Given the description of an element on the screen output the (x, y) to click on. 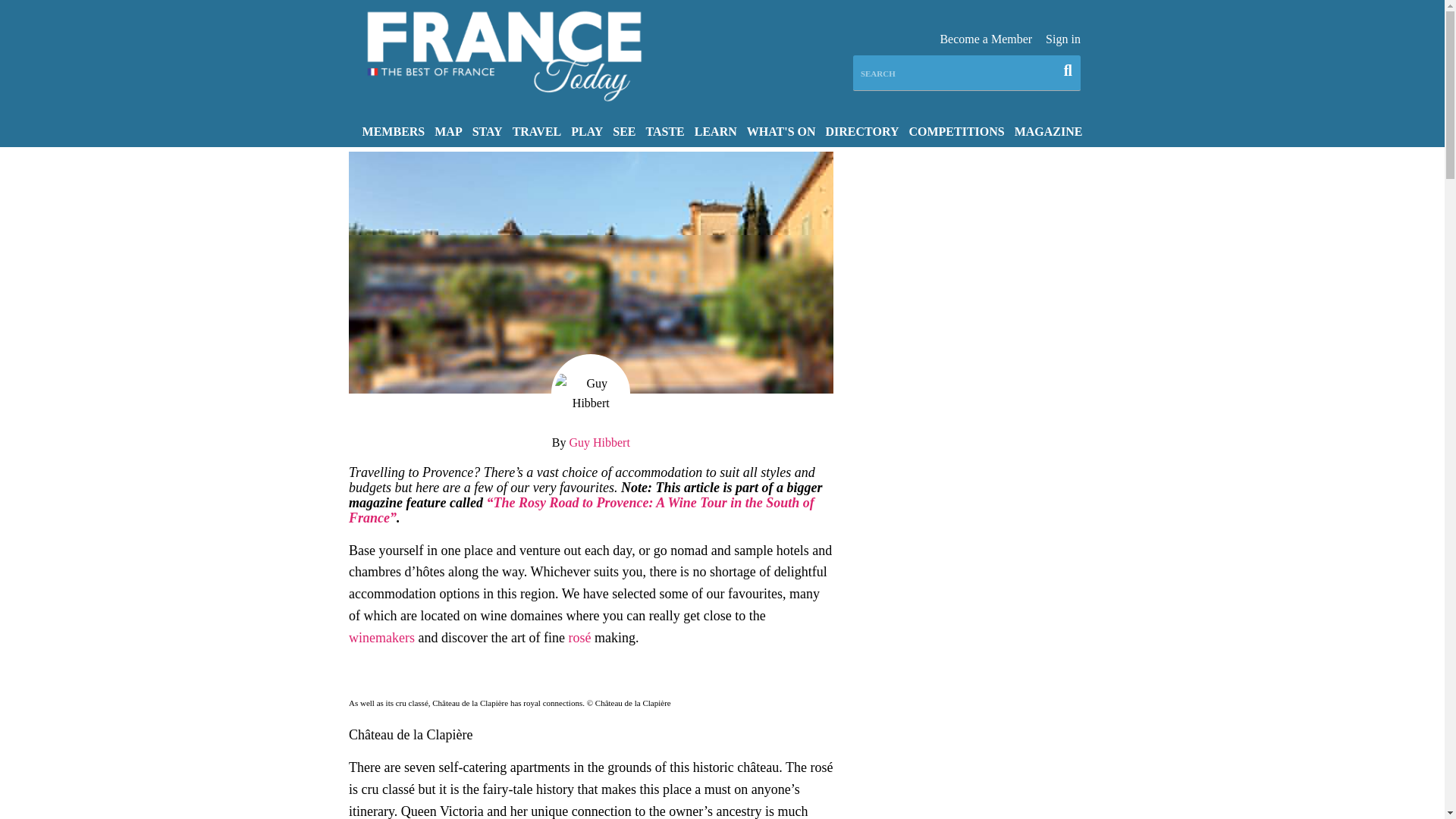
TRAVEL (537, 130)
Become a Member (985, 38)
STAY (486, 130)
MAP (447, 130)
MEMBERS (393, 130)
Guy Hibbert (598, 441)
Sign in (1062, 38)
